Given the description of an element on the screen output the (x, y) to click on. 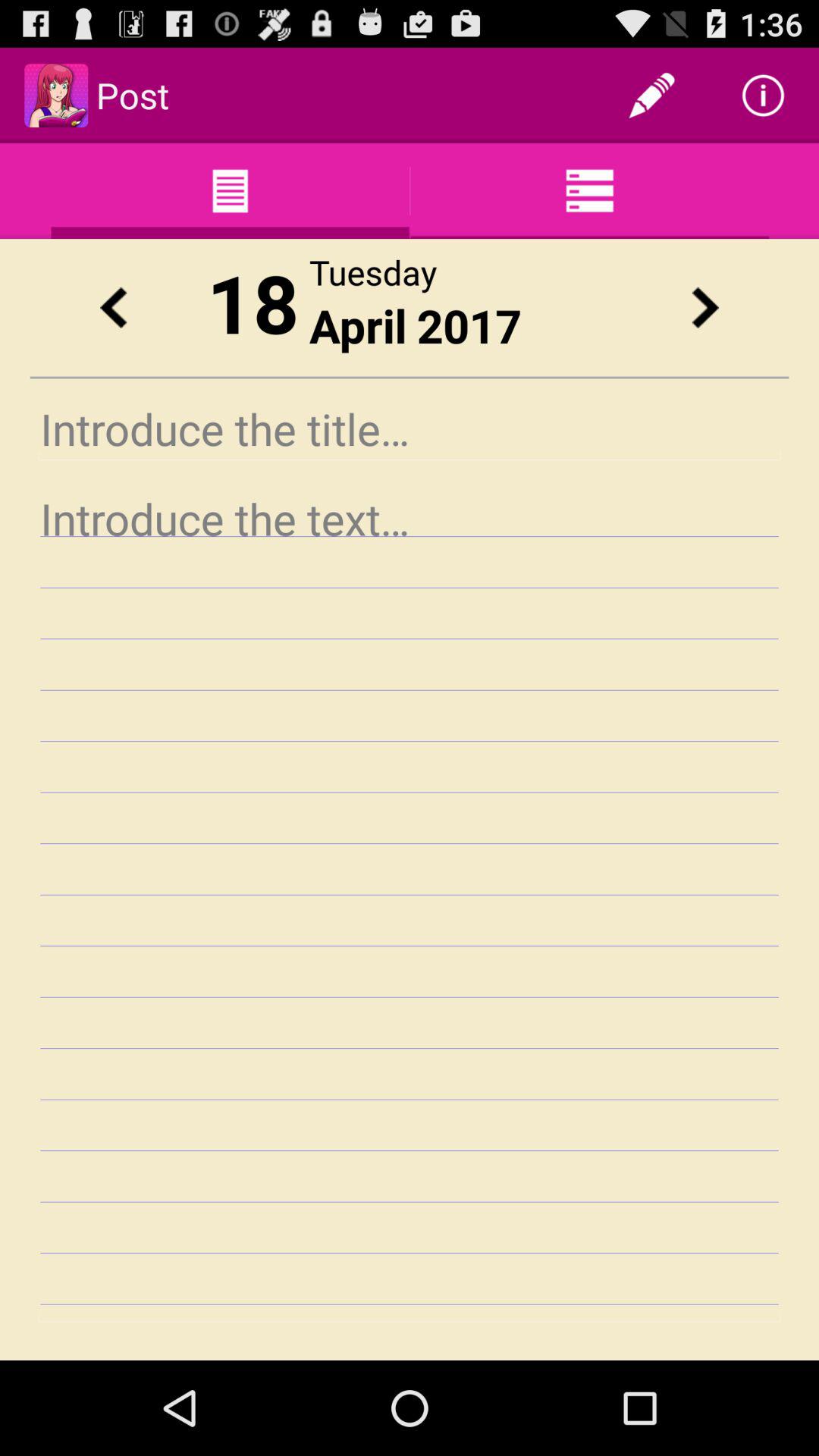
click the icon at the center (409, 904)
